Given the description of an element on the screen output the (x, y) to click on. 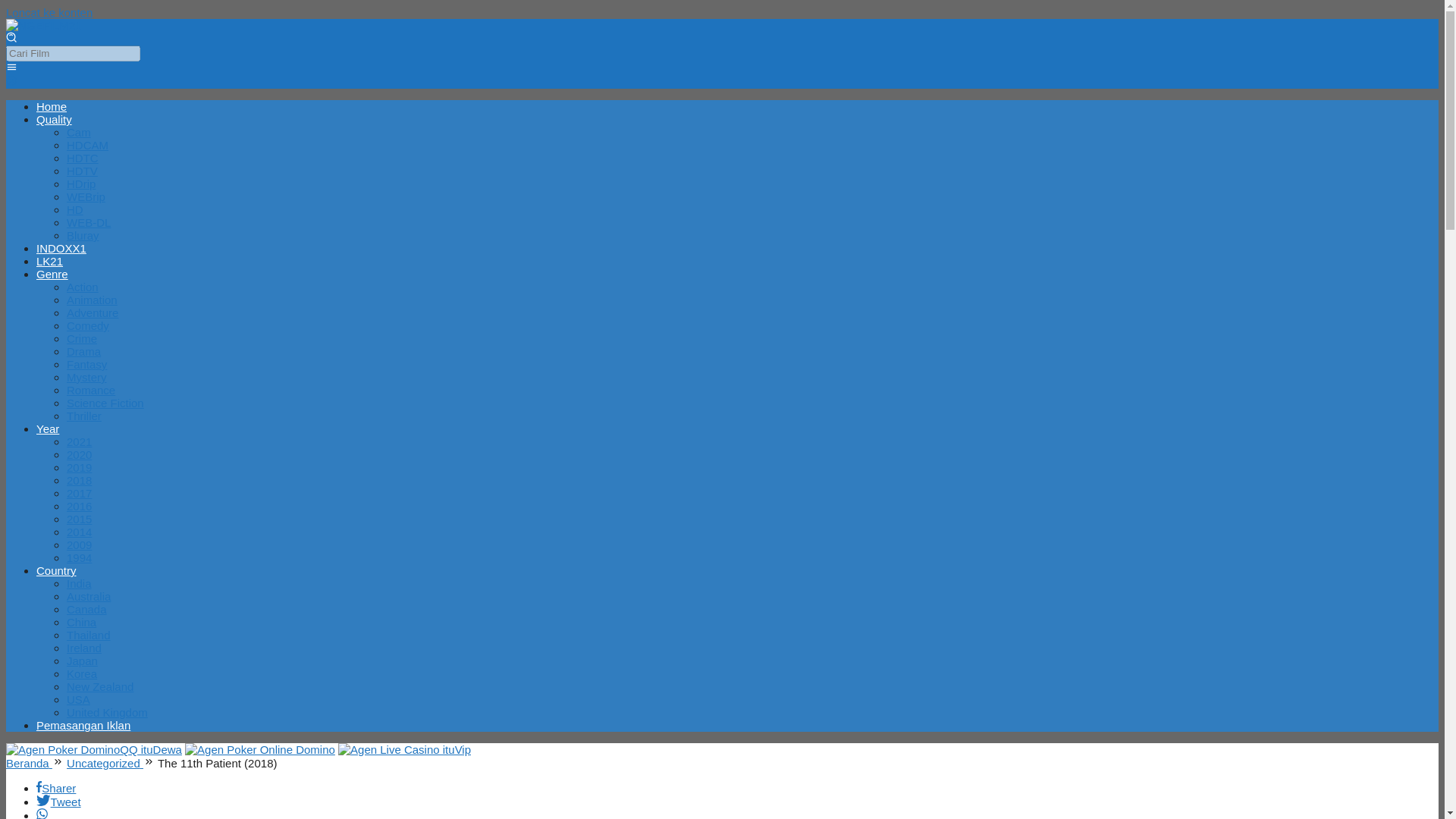
Crime (81, 338)
2009 (78, 544)
Animation (91, 299)
Year (47, 428)
Genre (52, 273)
HDCAM (86, 144)
INDOXX1 (60, 247)
Romance (90, 390)
WEB-DL (88, 222)
Fantasy (86, 364)
Thriller (83, 415)
HDTC (82, 157)
NGEFILM21 (43, 24)
Drama (83, 350)
Comedy (87, 325)
